Given the description of an element on the screen output the (x, y) to click on. 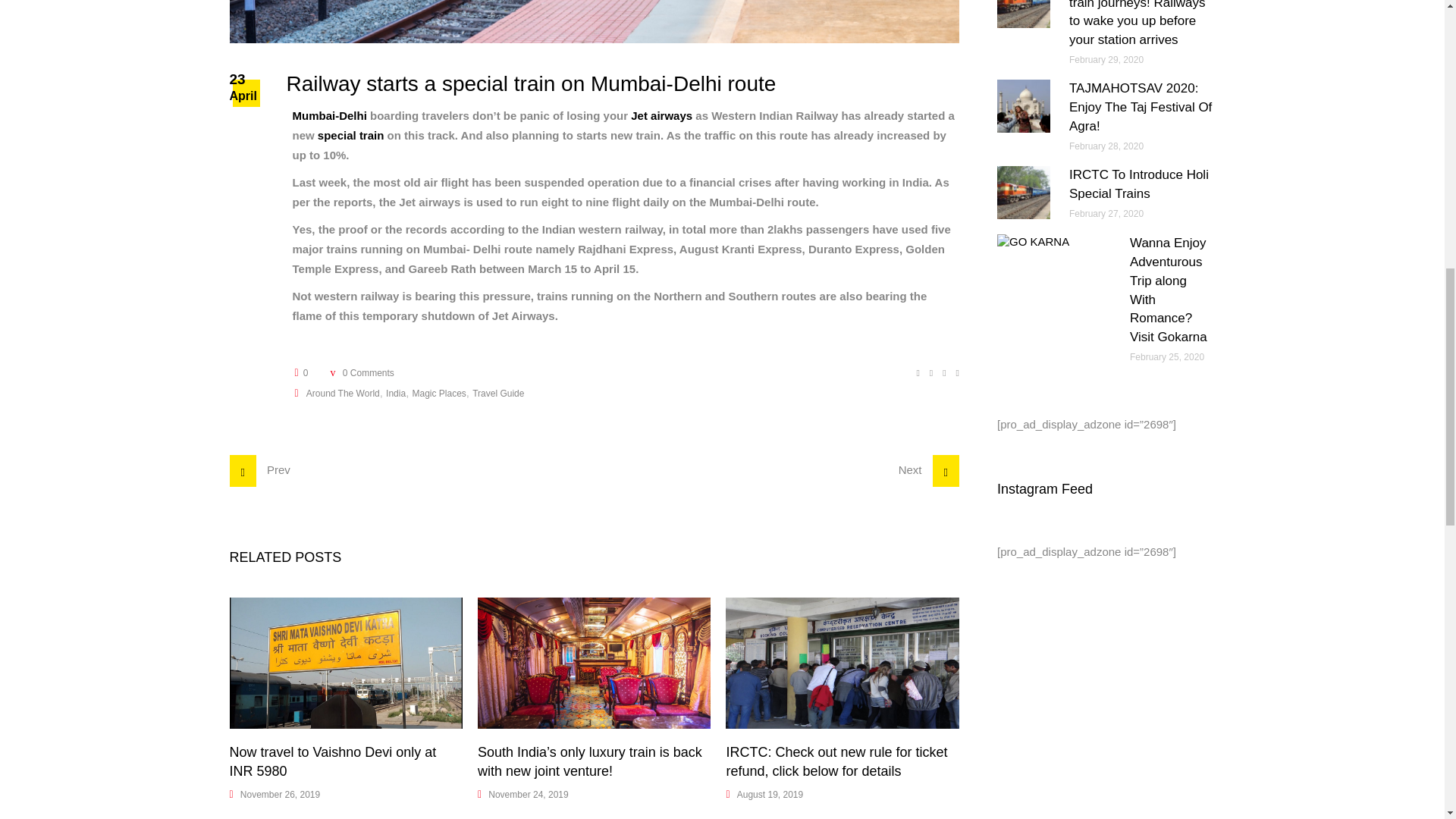
special train (350, 134)
0 (300, 372)
Now travel to Vaishno Devi only at INR 5980 (331, 761)
Jet airways (661, 115)
Like this (300, 372)
0 Comments (361, 372)
Now travel to Vaishno Devi only at INR 5980 (344, 662)
Mumbai-Delhi (329, 115)
